Given the description of an element on the screen output the (x, y) to click on. 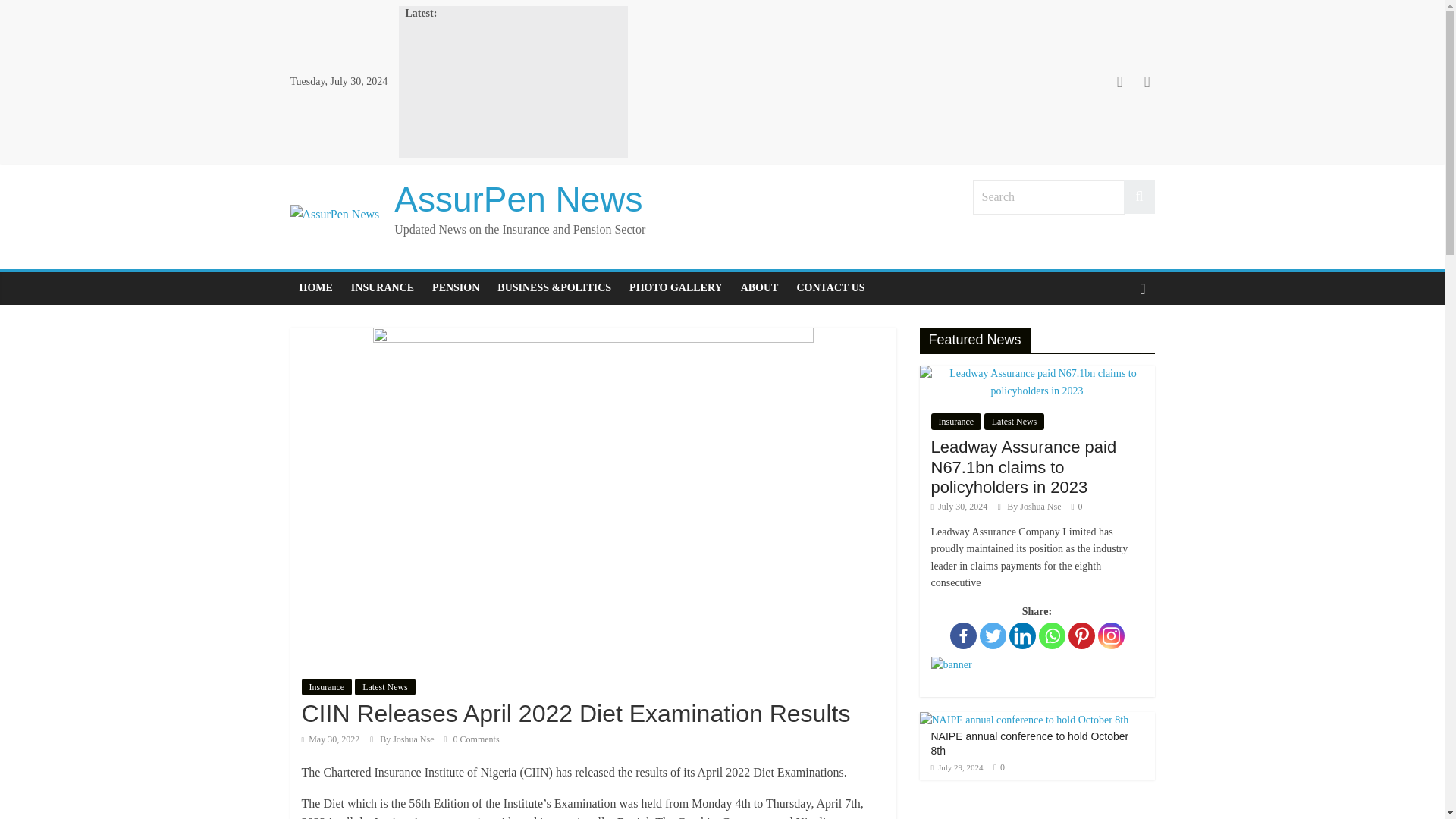
ABOUT (759, 287)
AssurPen News (518, 199)
By Joshua Nse (407, 738)
May 30, 2022 (330, 738)
5:24 am (330, 738)
AssurPen News (518, 199)
CONTACT US (830, 287)
By Joshua Nse (407, 738)
PENSION (455, 287)
HOME (314, 287)
0 Comments (471, 738)
PHOTO GALLERY (676, 287)
Insurance (326, 686)
